Given the description of an element on the screen output the (x, y) to click on. 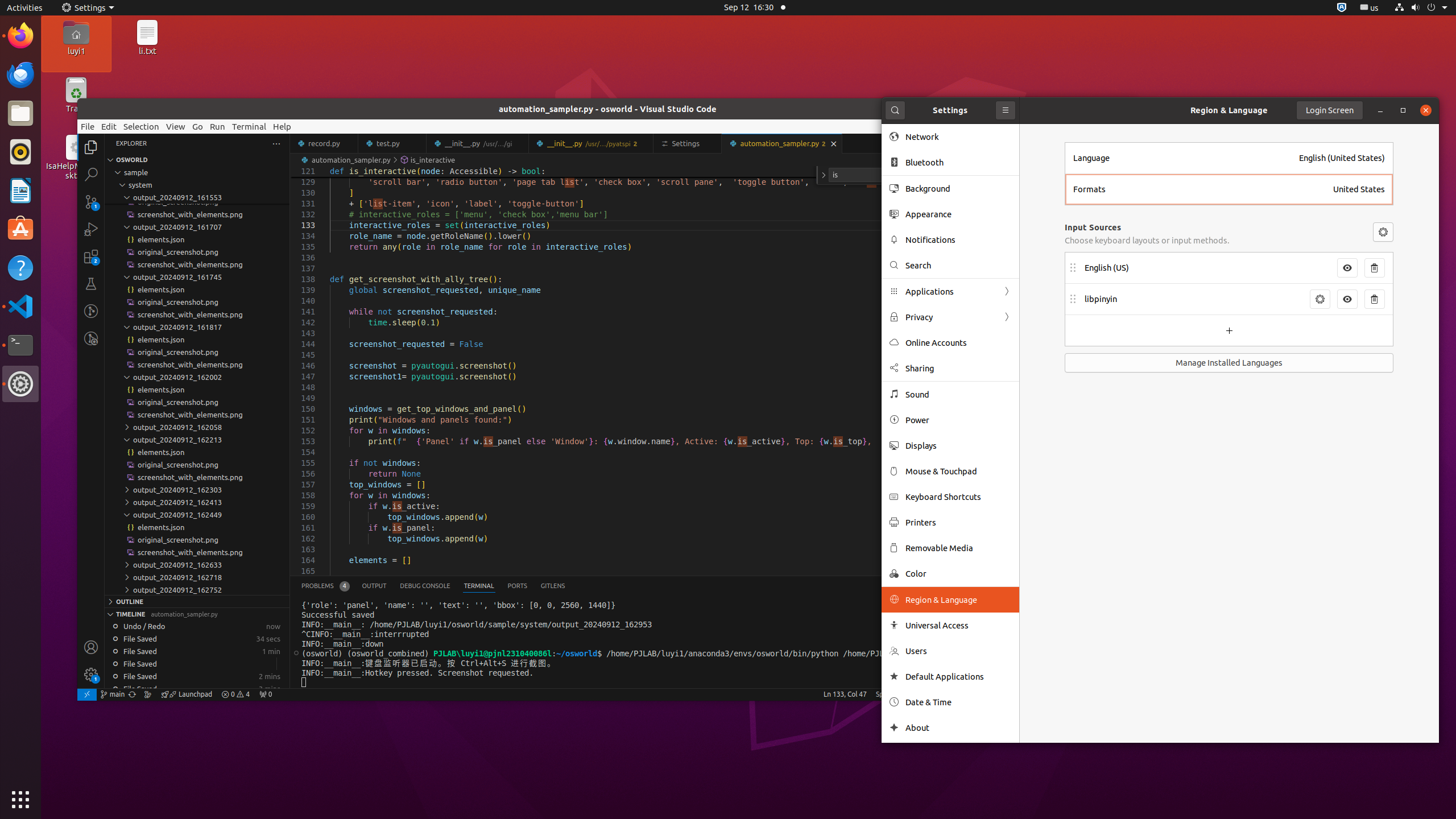
About Element type: label (958, 727)
English (United States) Element type: label (1341, 157)
Universal Access Element type: label (958, 625)
Mouse & Touchpad Element type: label (958, 471)
